Given the description of an element on the screen output the (x, y) to click on. 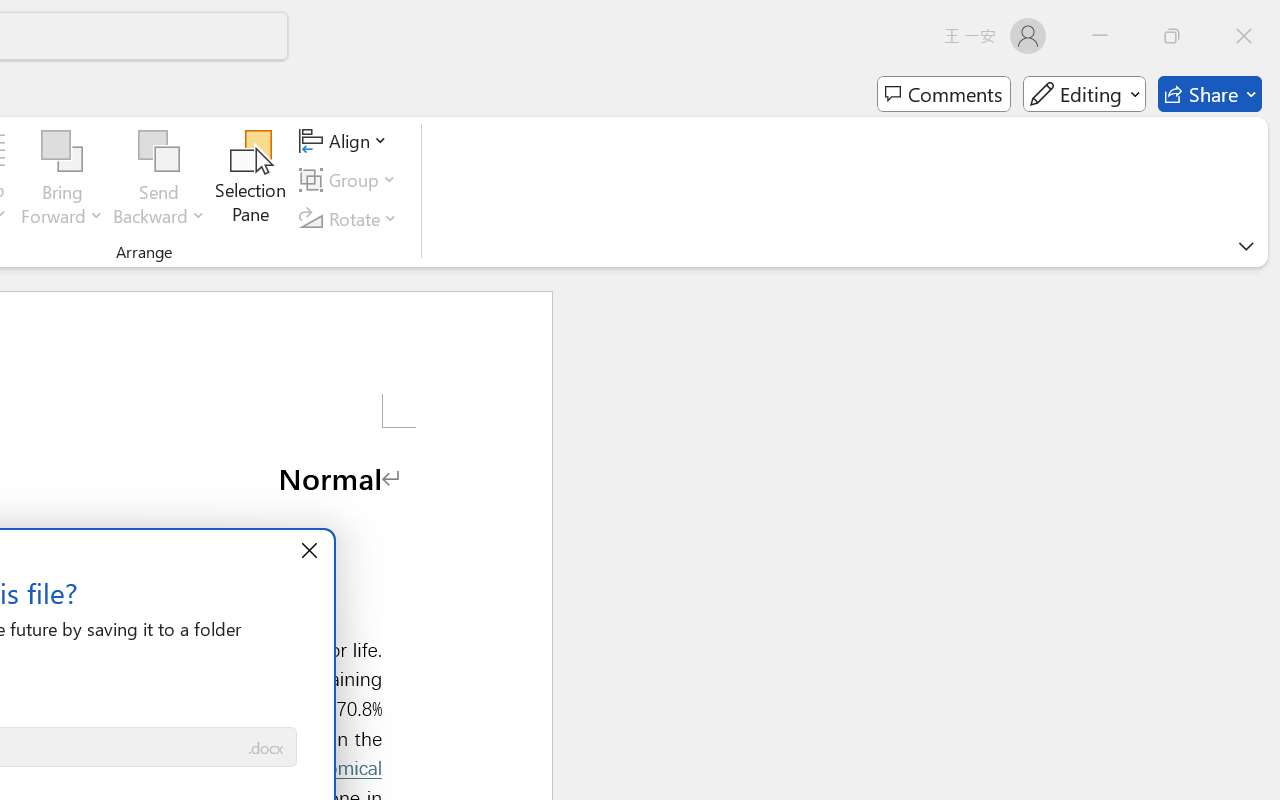
Align (346, 141)
Selection Pane... (251, 179)
Group (351, 179)
Save as type (265, 747)
Send Backward (159, 179)
Bring Forward (62, 179)
